Given the description of an element on the screen output the (x, y) to click on. 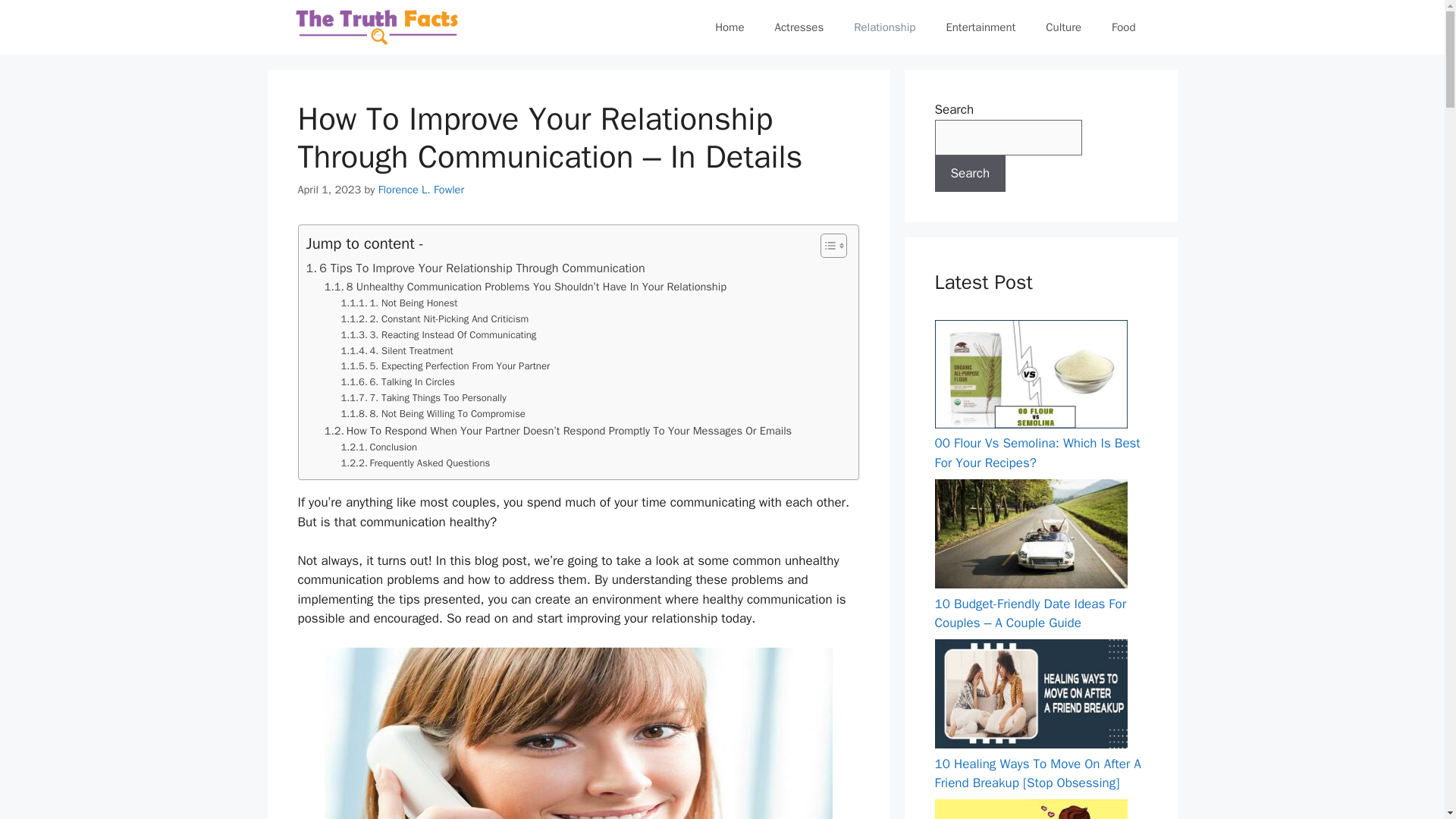
1. Not Being Honest (399, 303)
Frequently Asked Questions (415, 463)
3. Reacting Instead Of Communicating (438, 335)
Actresses (800, 26)
2. Constant Nit-Picking And Criticism (434, 319)
View all posts by Florence L. Fowler (421, 189)
5. Expecting Perfection From Your Partner (445, 366)
Conclusion (378, 447)
Florence L. Fowler (421, 189)
4. Silent Treatment (396, 351)
5. Expecting Perfection From Your Partner (445, 366)
Frequently Asked Questions (415, 463)
6 Tips To Improve Your Relationship Through Communication (475, 268)
8. Not Being Willing To Compromise (432, 414)
